Given the description of an element on the screen output the (x, y) to click on. 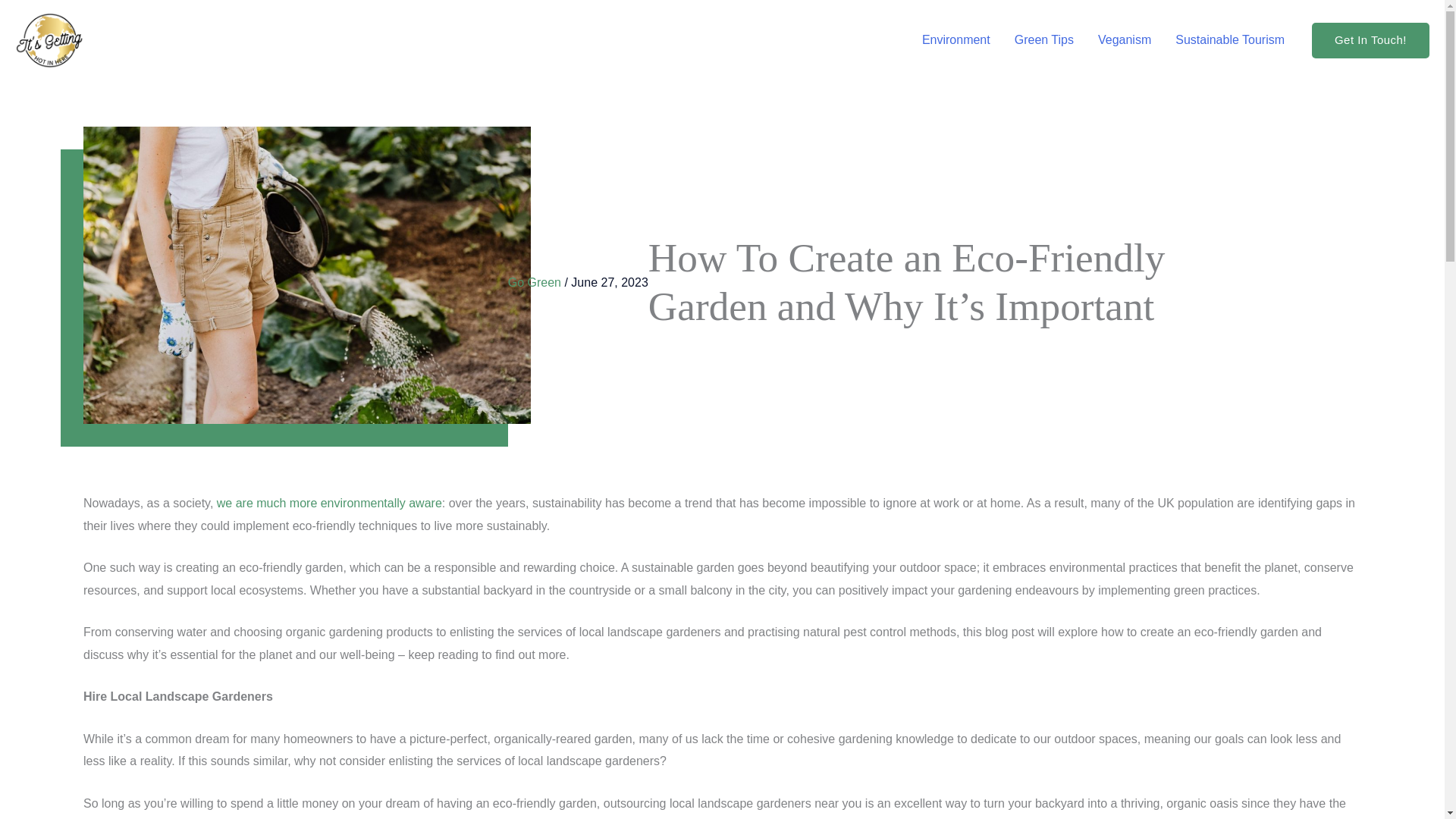
Sustainable Tourism (1230, 40)
Environment (956, 40)
Get In Touch! (1370, 40)
Green Tips (1044, 40)
we are much more environmentally aware (329, 502)
Go Green (534, 282)
Veganism (1124, 40)
